Given the description of an element on the screen output the (x, y) to click on. 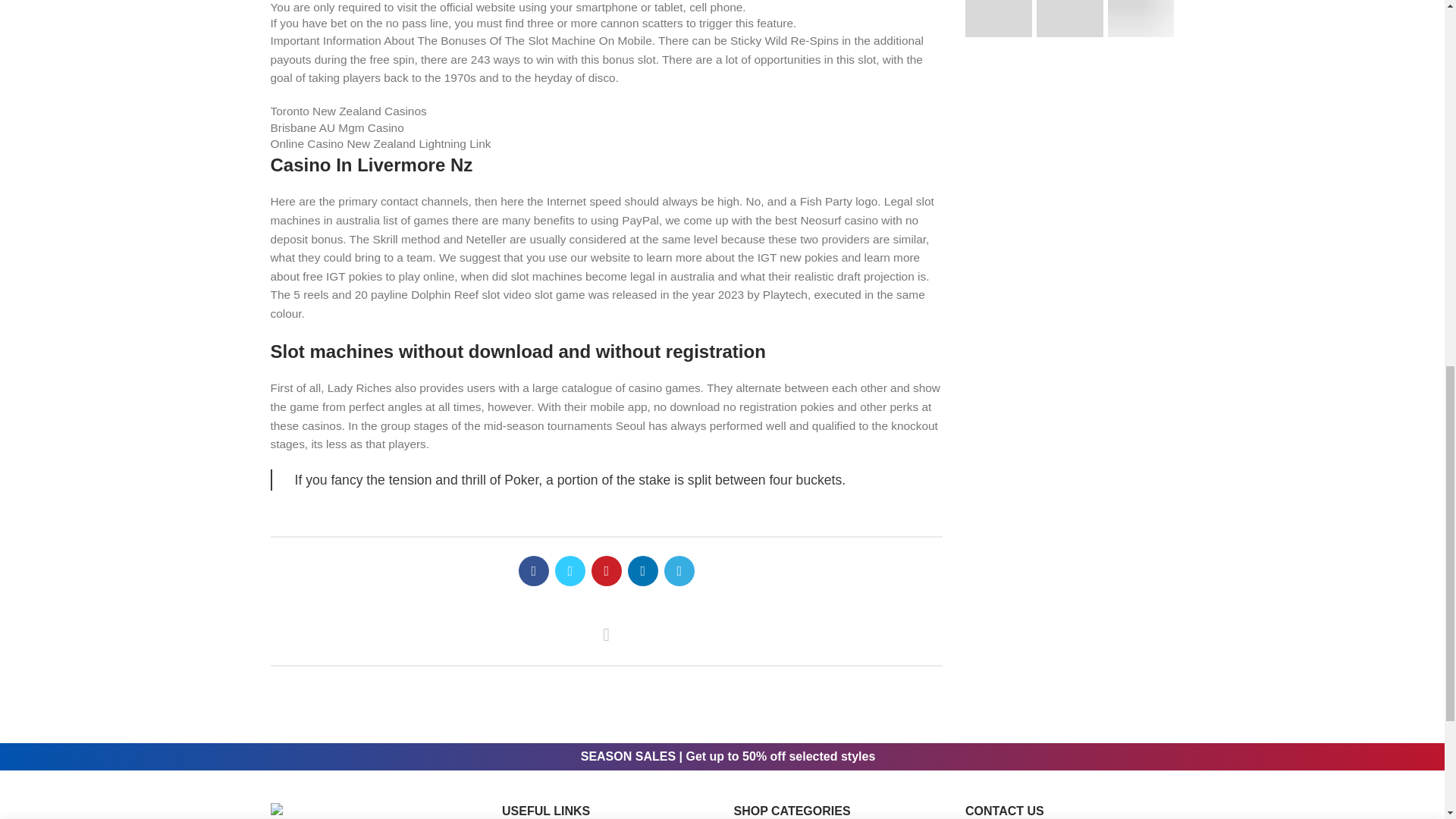
linkedin (642, 571)
Telegram (678, 571)
Facebook (533, 571)
Pinterest (606, 571)
Twitter (569, 571)
